Given the description of an element on the screen output the (x, y) to click on. 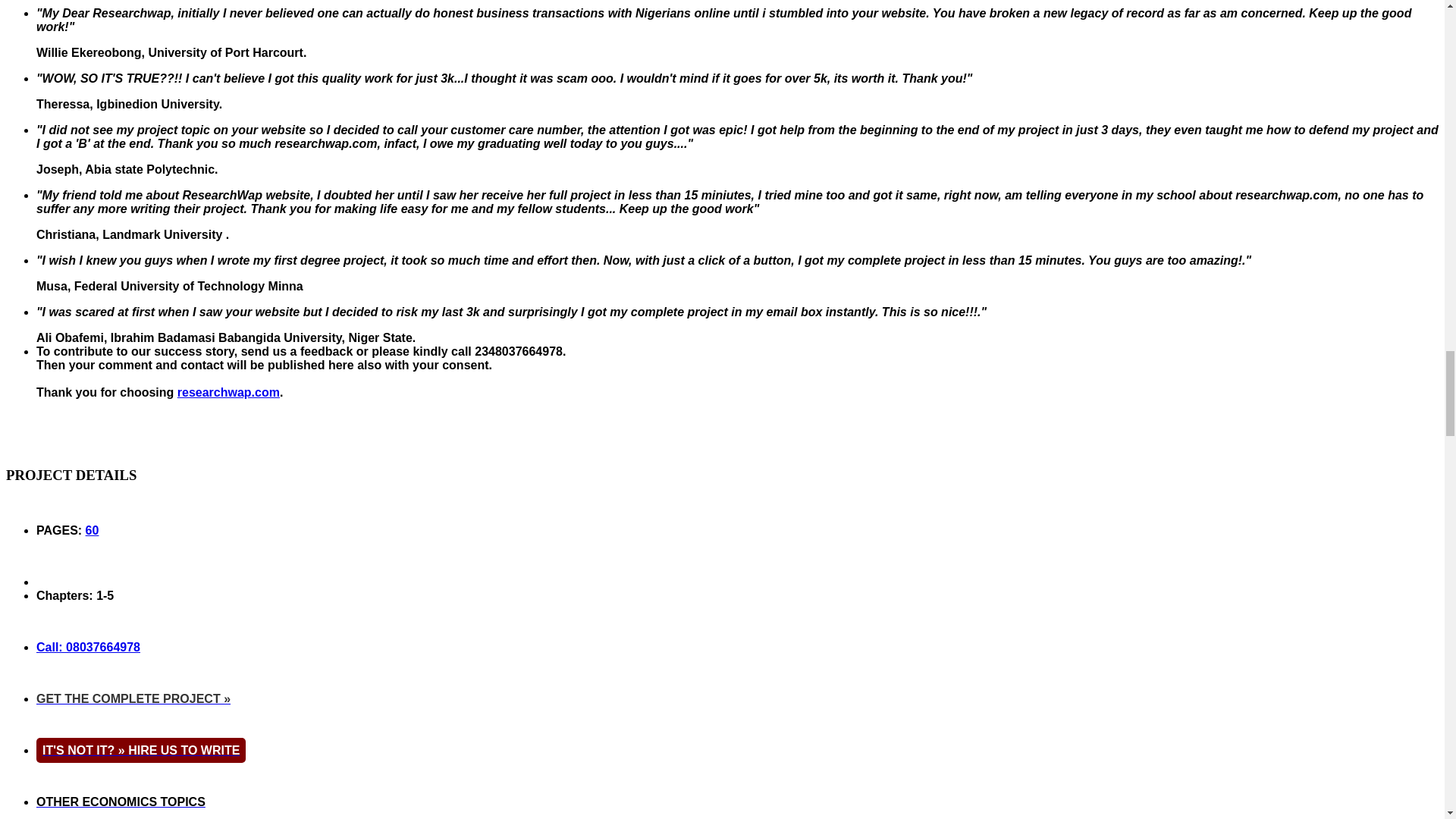
OTHER ECONOMICS TOPICS (120, 801)
researchwap.com (228, 391)
Call: 08037664978 (87, 646)
60 (92, 530)
